Given the description of an element on the screen output the (x, y) to click on. 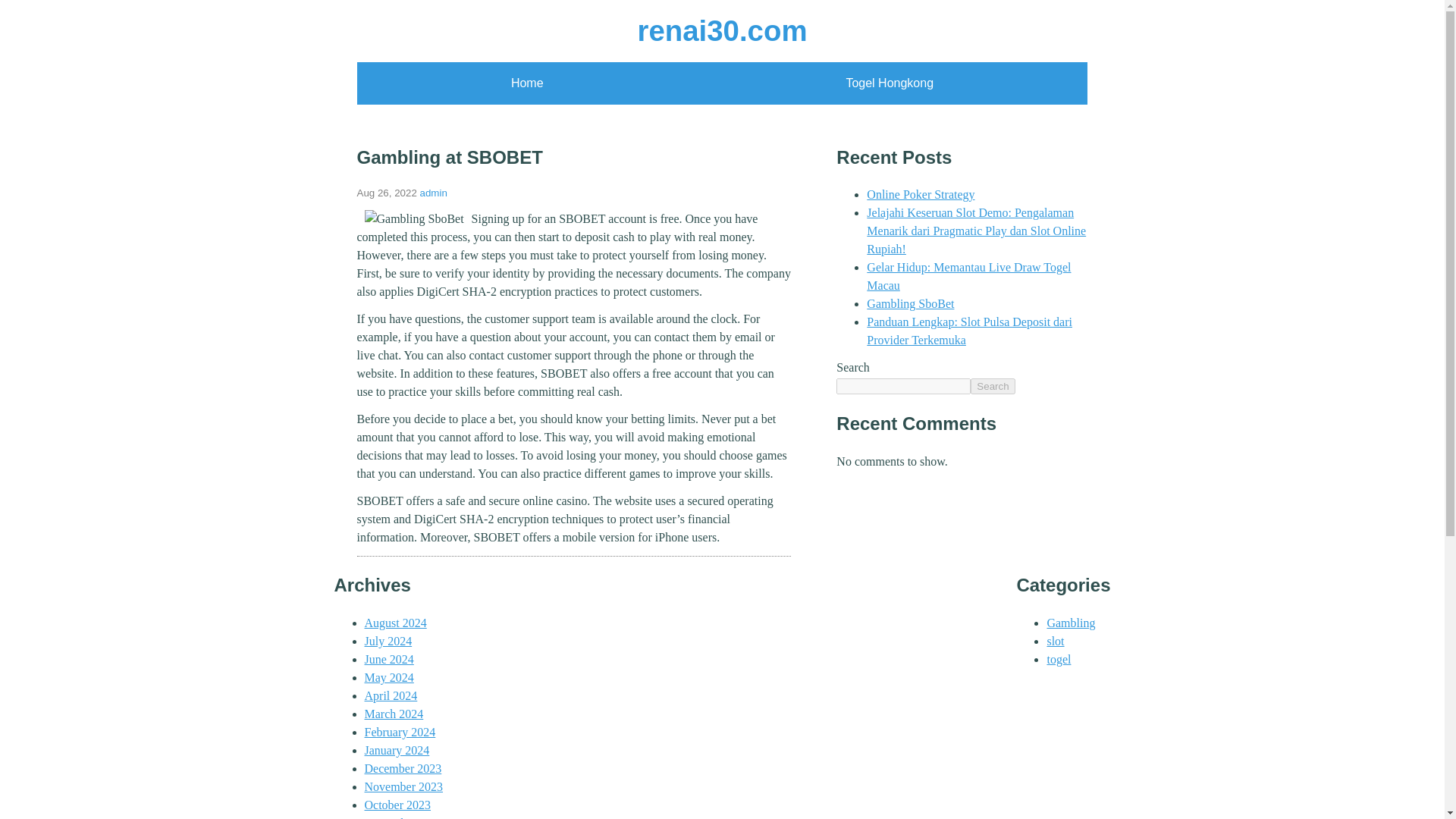
December 2023 (402, 768)
February 2024 (399, 731)
August 2024 (395, 622)
Search (992, 385)
Panduan Lengkap: Slot Pulsa Deposit dari Provider Terkemuka (968, 330)
renai30.com (721, 30)
April 2024 (390, 695)
June 2024 (388, 658)
Home (527, 82)
November 2023 (403, 786)
Togel Hongkong (889, 82)
October 2023 (397, 804)
September 2023 (403, 817)
Online Poker Strategy (920, 194)
Gelar Hidup: Memantau Live Draw Togel Macau (968, 276)
